Given the description of an element on the screen output the (x, y) to click on. 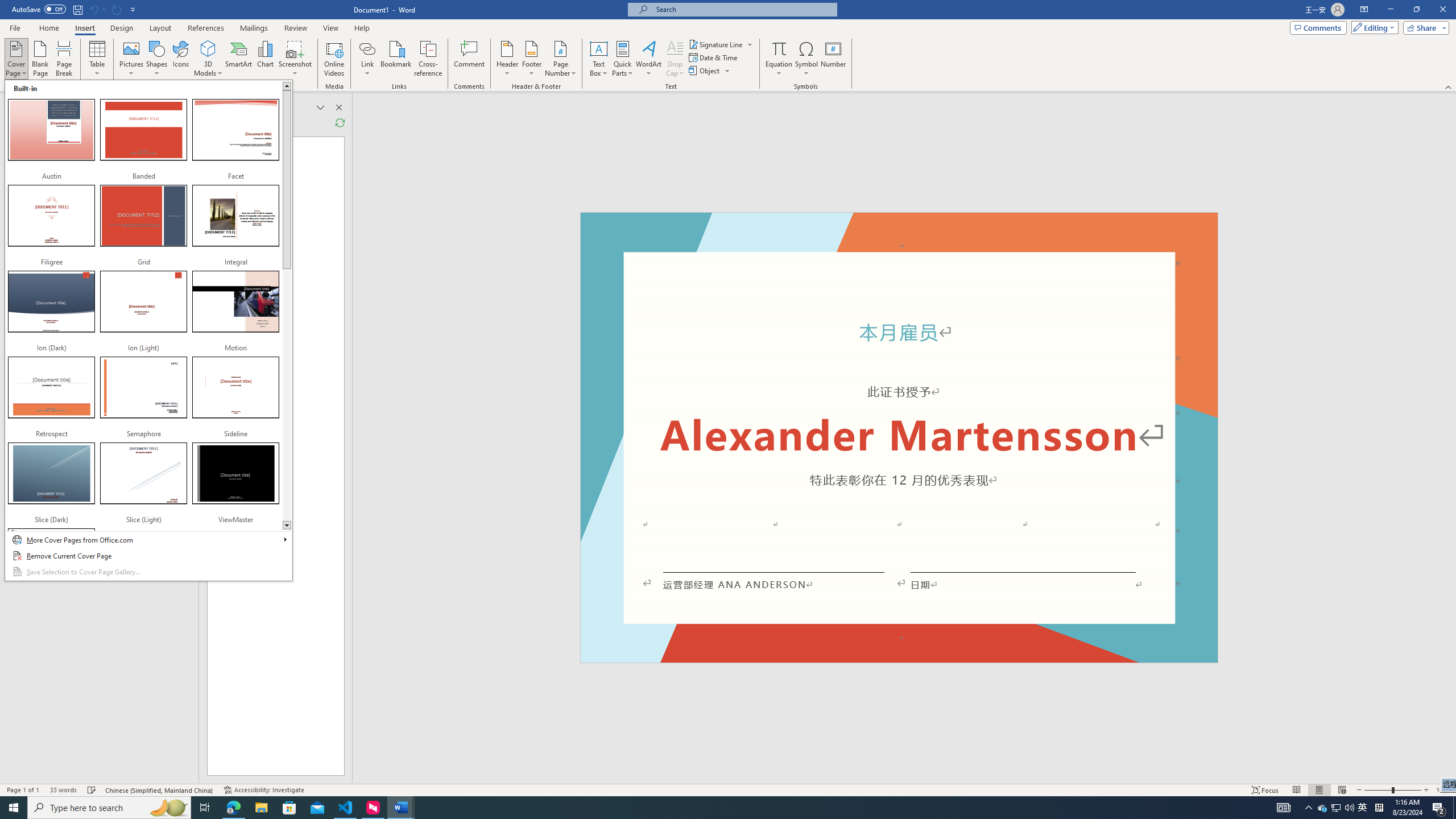
Page Break (63, 58)
File Explorer (261, 807)
Task View (204, 807)
Can't Undo (92, 9)
Blank Page (40, 58)
Comment (469, 58)
Bookmark... (396, 58)
Page Number Page 1 of 1 (22, 790)
Can't Repeat (117, 9)
